Given the description of an element on the screen output the (x, y) to click on. 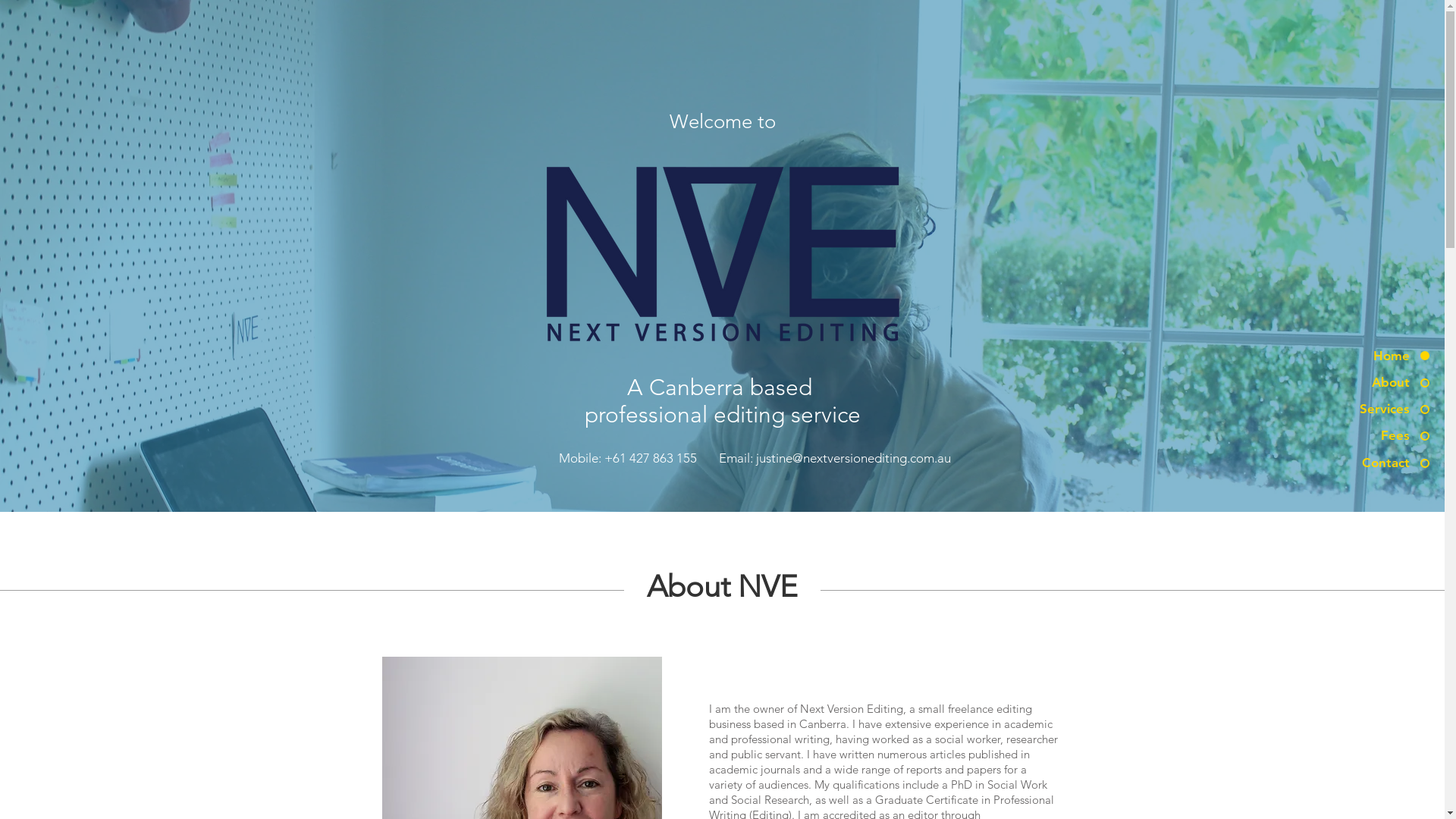
justine@nextversionediting.com.au Element type: text (852, 457)
Home Element type: text (1369, 356)
blue full.png Element type: hover (721, 252)
Services Element type: text (1369, 409)
Contact Element type: text (1369, 463)
Fees Element type: text (1369, 435)
About Element type: text (1369, 382)
